Given the description of an element on the screen output the (x, y) to click on. 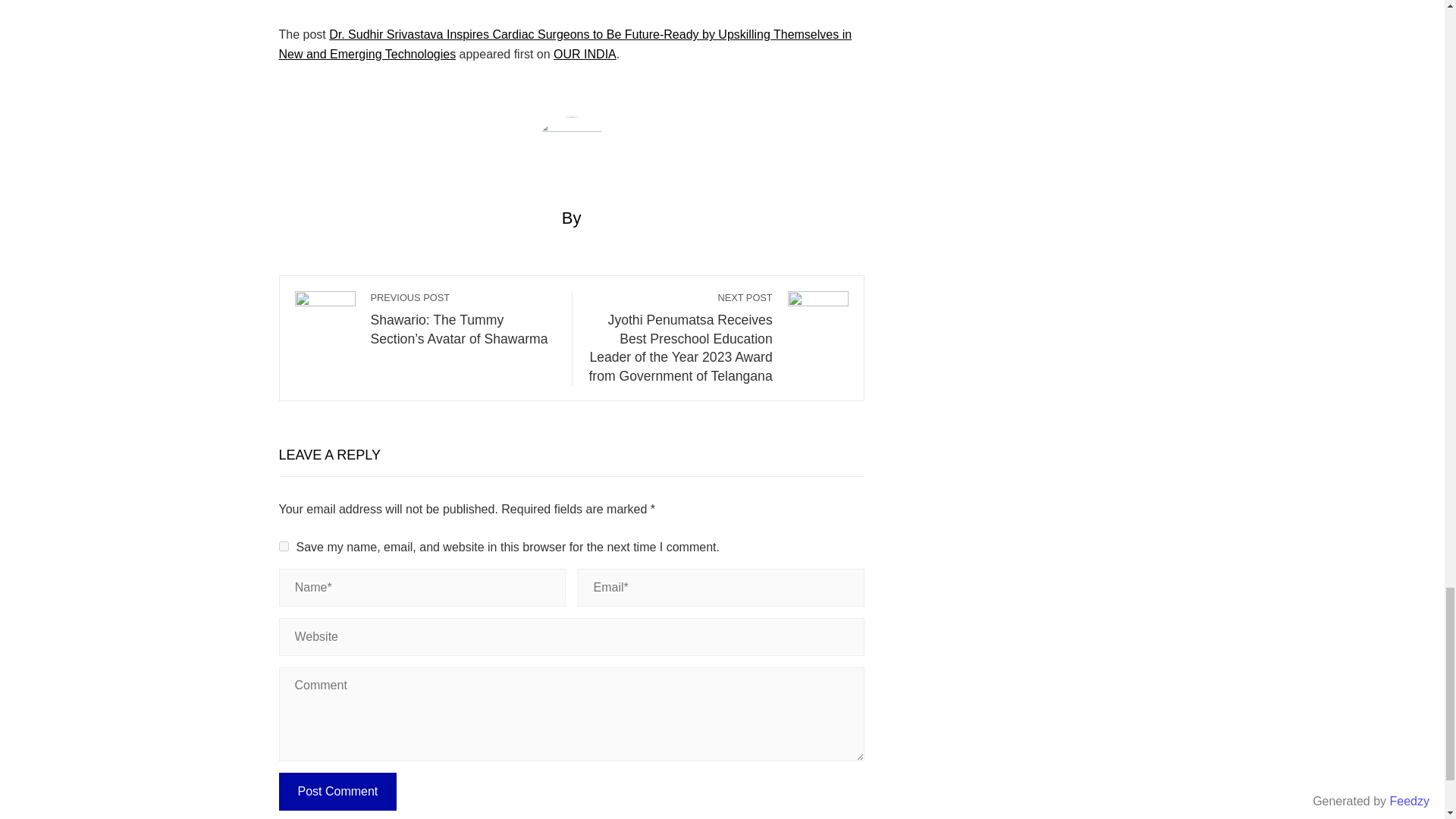
yes (283, 546)
Post Comment (338, 791)
Post Comment (338, 791)
OUR INDIA (584, 53)
